Given the description of an element on the screen output the (x, y) to click on. 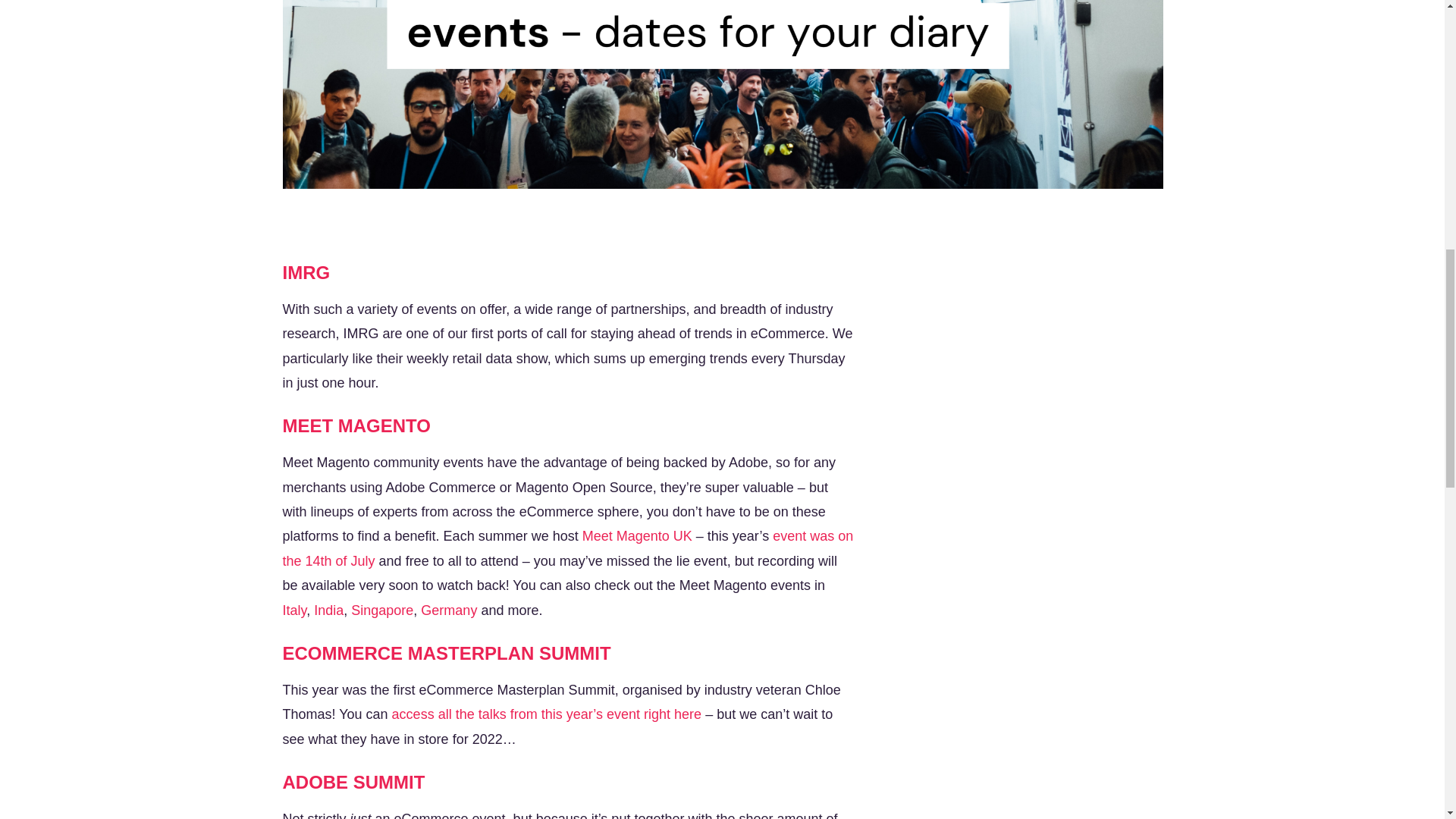
Germany (448, 610)
ECOMMERCE MASTERPLAN SUMMIT (446, 652)
Italy (293, 610)
India (328, 610)
Singapore (381, 610)
Meet Magento UK (637, 535)
event was on the 14th of July (567, 548)
MEET MAGENTO (355, 425)
IMRG (306, 272)
ADOBE SUMMIT (353, 782)
